Given the description of an element on the screen output the (x, y) to click on. 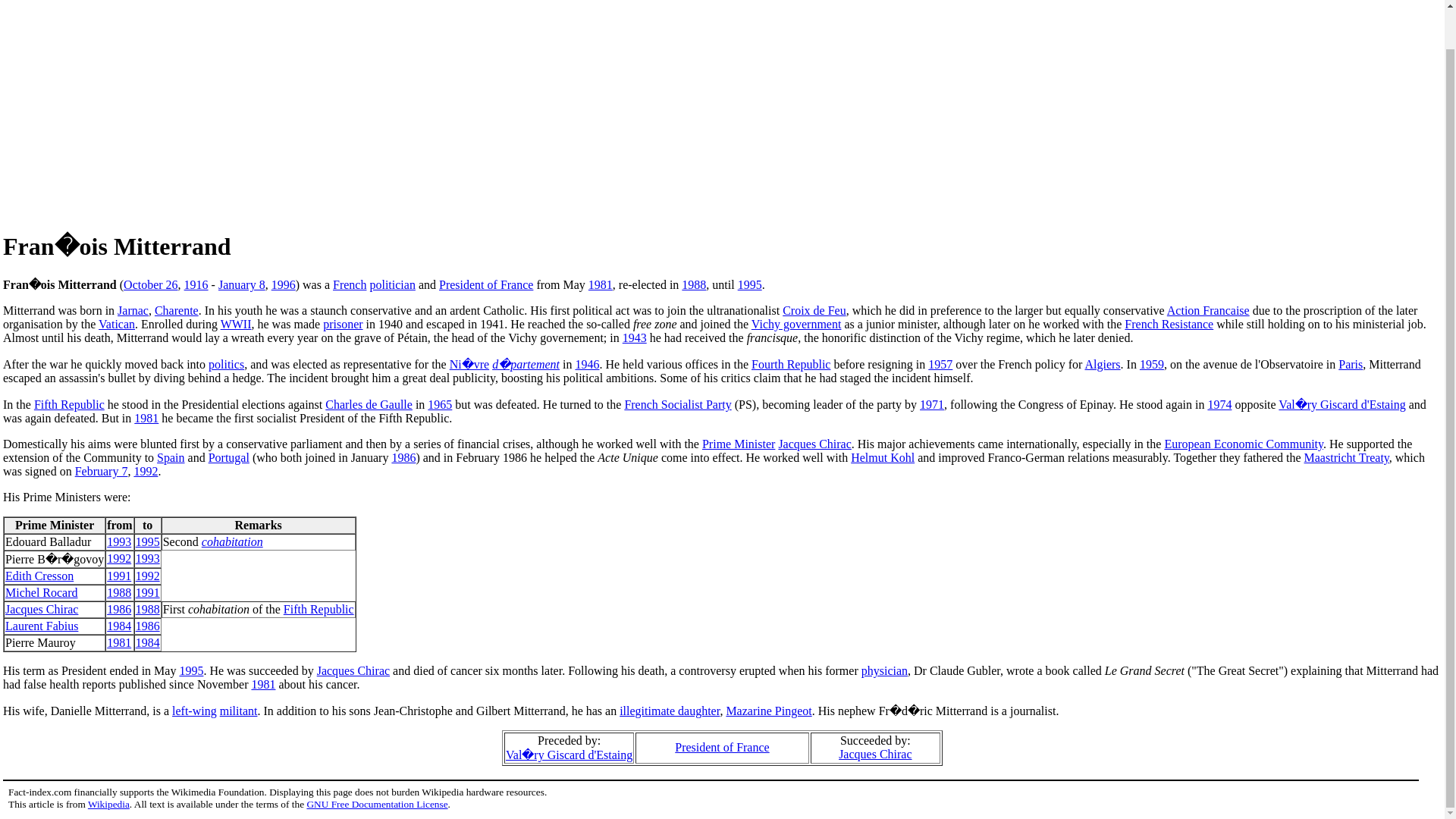
1996 (282, 284)
Paris (1350, 364)
1946 (586, 364)
Holy See (117, 323)
Fourth Republic (790, 364)
Jarnac (132, 309)
Charente (176, 309)
1965 (439, 404)
1995 (749, 284)
French (349, 284)
Charente (176, 309)
1996 (282, 284)
1988 (693, 284)
1971 (931, 404)
Vatican (117, 323)
